Given the description of an element on the screen output the (x, y) to click on. 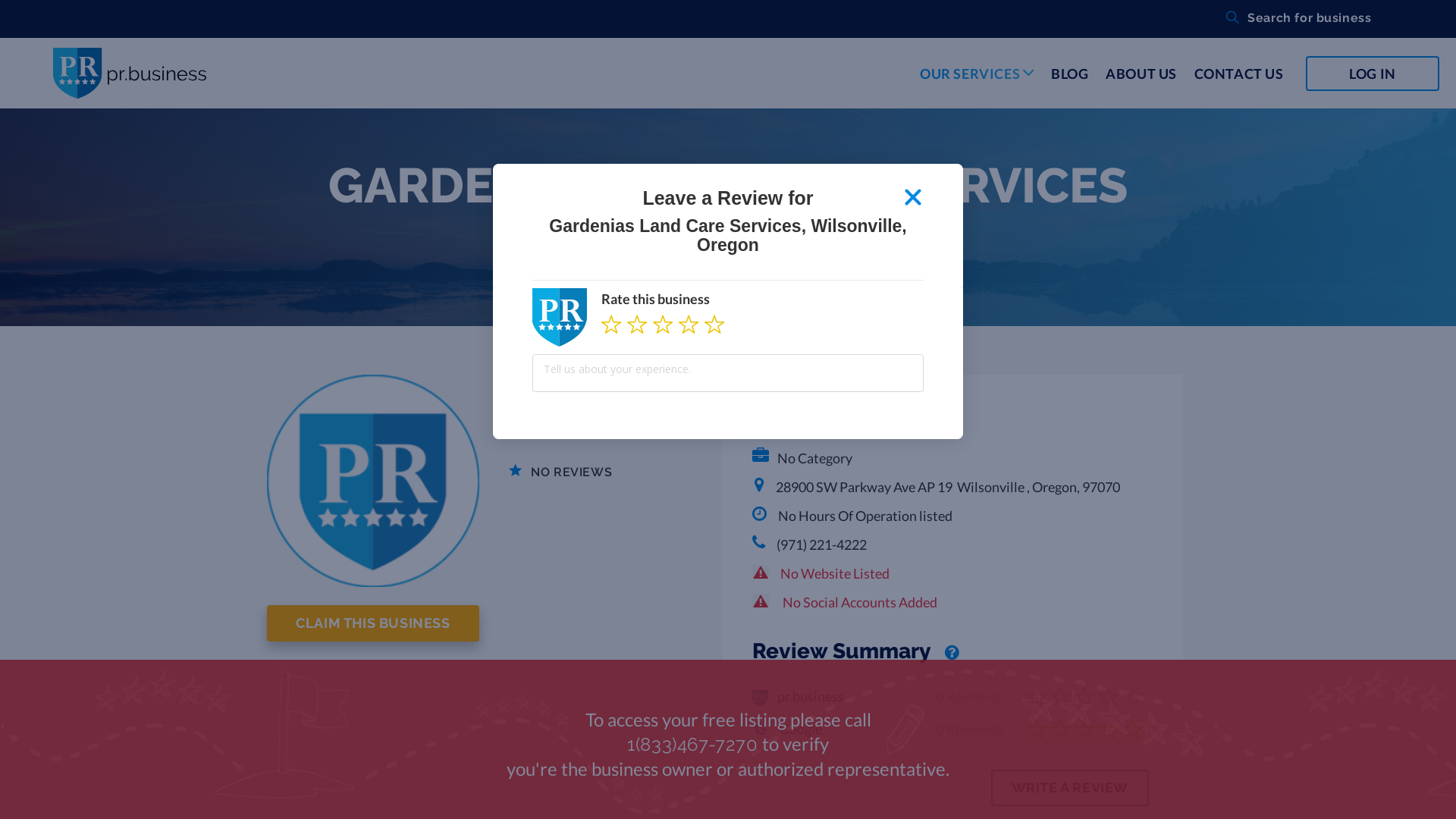
ABOUT US Element type: text (1140, 73)
WRITE A REVIEW Element type: text (1069, 787)
1(833)467-7270 Element type: text (692, 744)
CONTACT US Element type: text (1238, 73)
OUR SERVICES Element type: text (976, 86)
CLAIM THIS BUSINESS Element type: text (372, 623)
LOG IN Element type: text (1372, 73)
Search for business Element type: text (1289, 19)
BLOG Element type: text (1069, 73)
WRITE A REVIEW Element type: text (1077, 788)
